Given the description of an element on the screen output the (x, y) to click on. 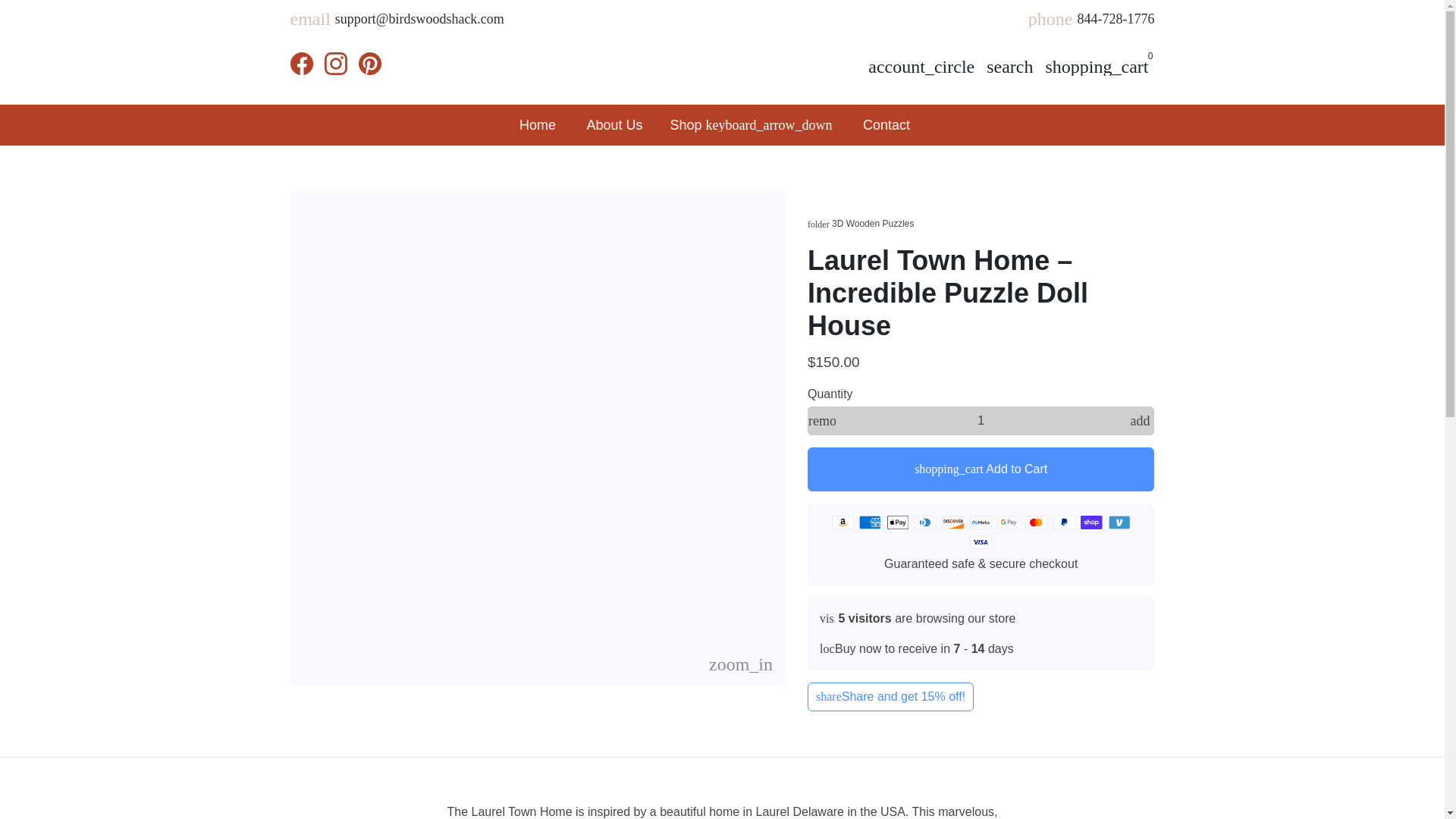
Google Pay (1008, 522)
Log In (920, 66)
Discover (952, 522)
Venmo (1118, 522)
Cart (1096, 66)
Diners Club (925, 522)
Visa (980, 541)
1 (981, 420)
search (1009, 66)
